Given the description of an element on the screen output the (x, y) to click on. 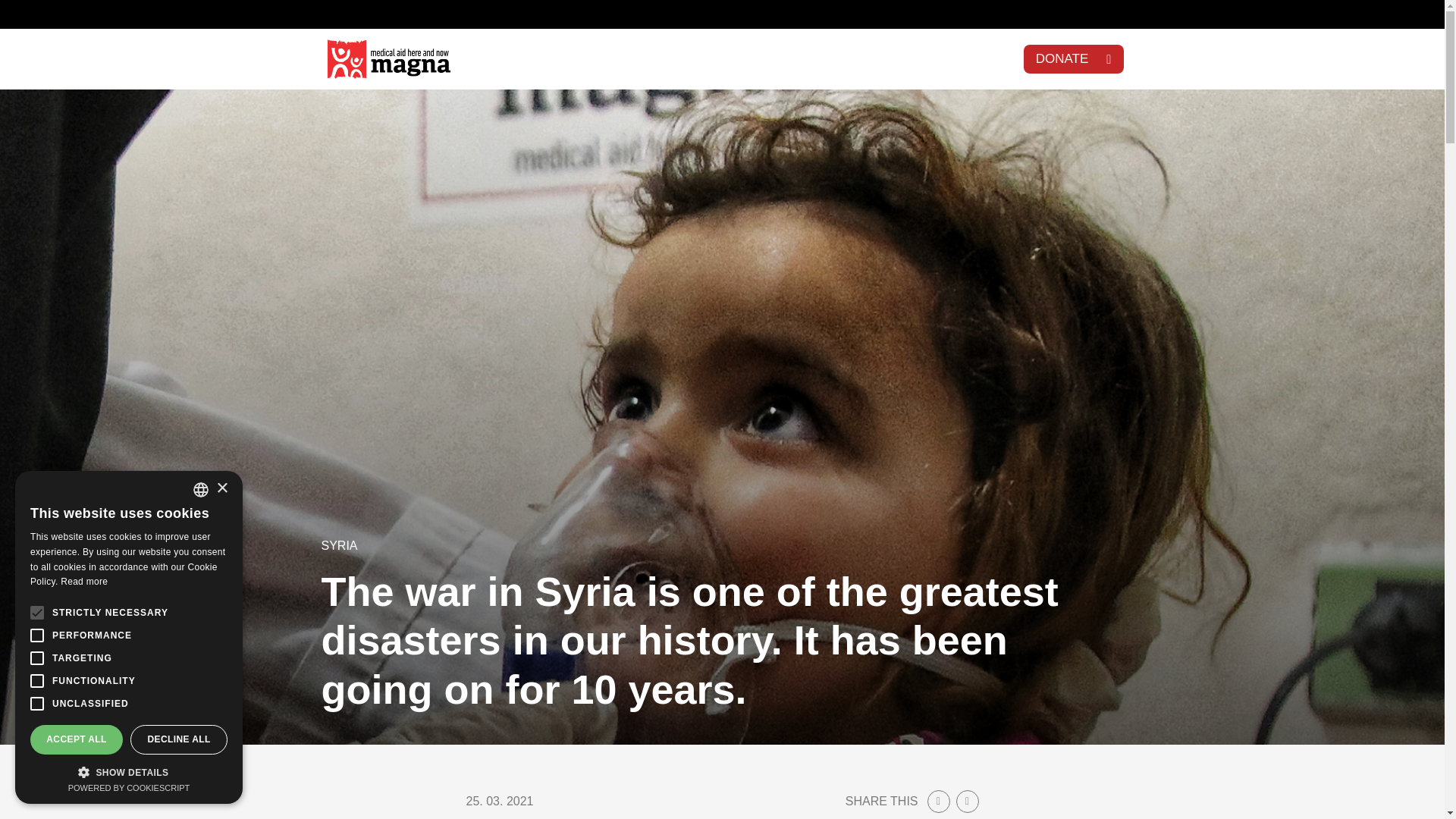
SYRIA (339, 545)
DONATE (1073, 59)
POWERED BY COOKIESCRIPT (129, 787)
Consent Management Platform (129, 787)
Read more (84, 581)
